Given the description of an element on the screen output the (x, y) to click on. 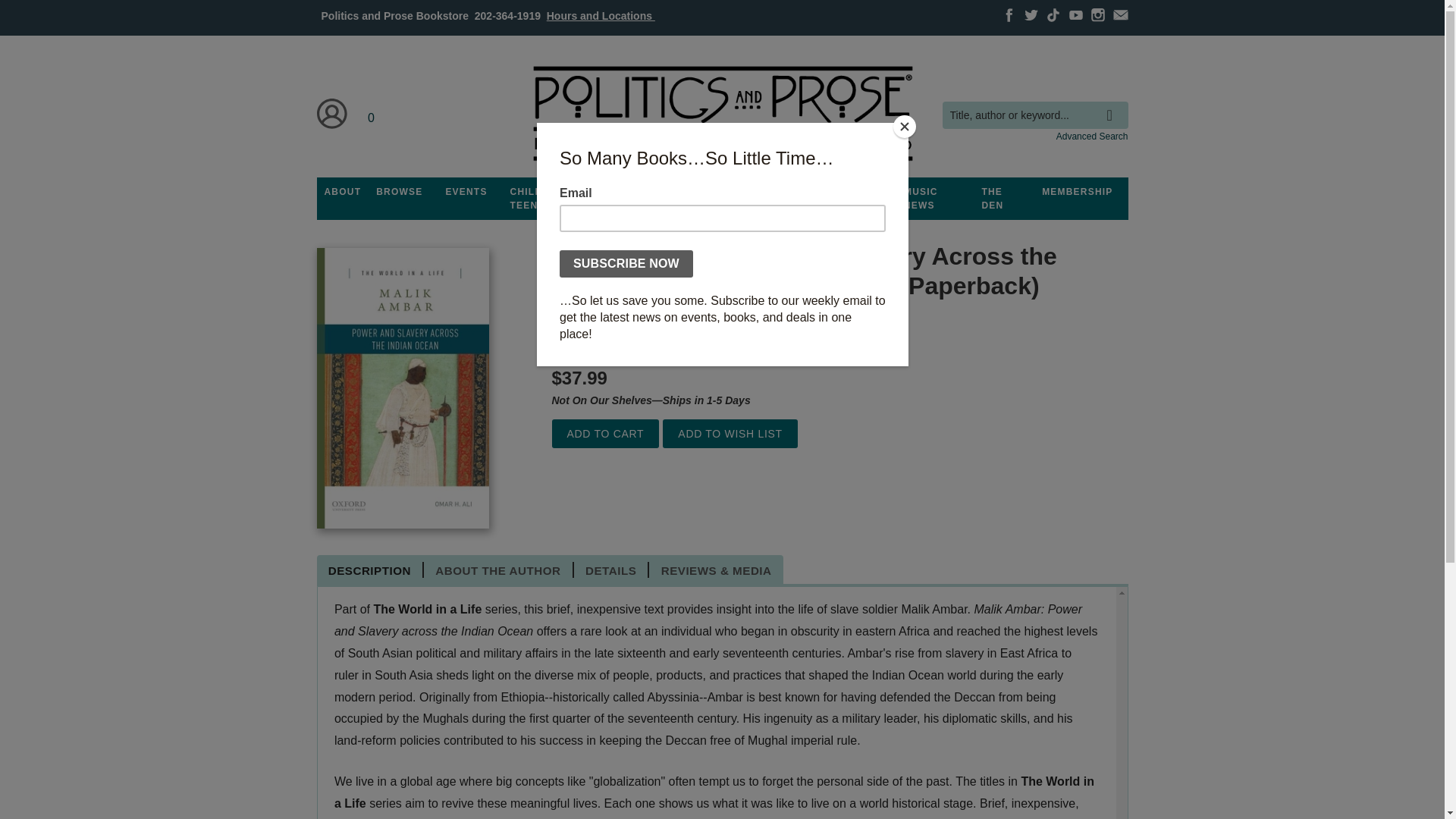
SUBSCRIPTIONS (722, 191)
My Account (332, 114)
Advanced Search (1092, 136)
See our store ours and locations (601, 15)
See our event calendar (465, 191)
Browse our shelves (398, 191)
Cart (371, 114)
Visit your cart (371, 114)
search (1112, 103)
Home (721, 114)
ABOUT (343, 191)
SERVICES (808, 191)
EVENTS (465, 191)
search (1112, 103)
